Given the description of an element on the screen output the (x, y) to click on. 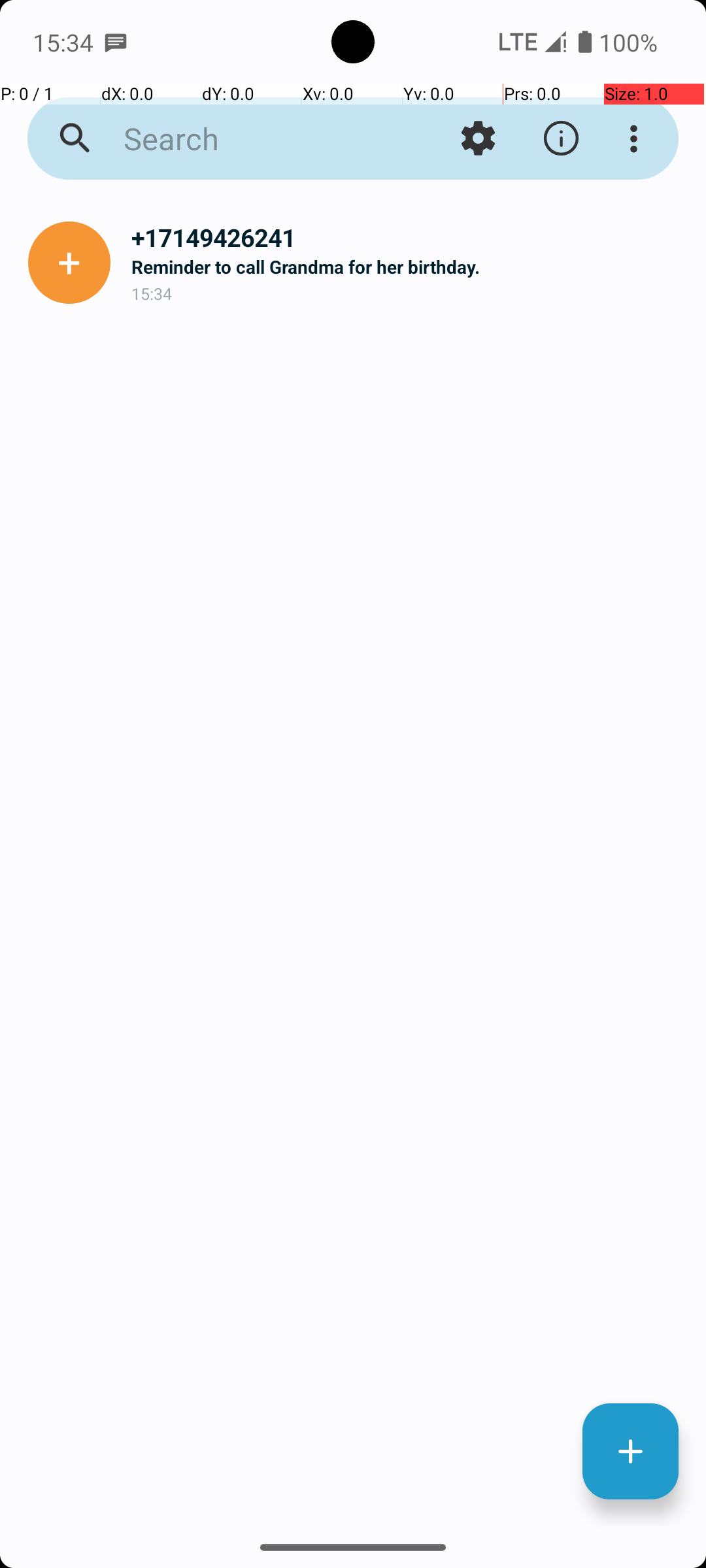
+17149426241 Element type: android.widget.TextView (408, 237)
Reminder to call Grandma for her birthday. Element type: android.widget.TextView (408, 266)
SMS Messenger notification: +17149426241 Element type: android.widget.ImageView (115, 41)
